Given the description of an element on the screen output the (x, y) to click on. 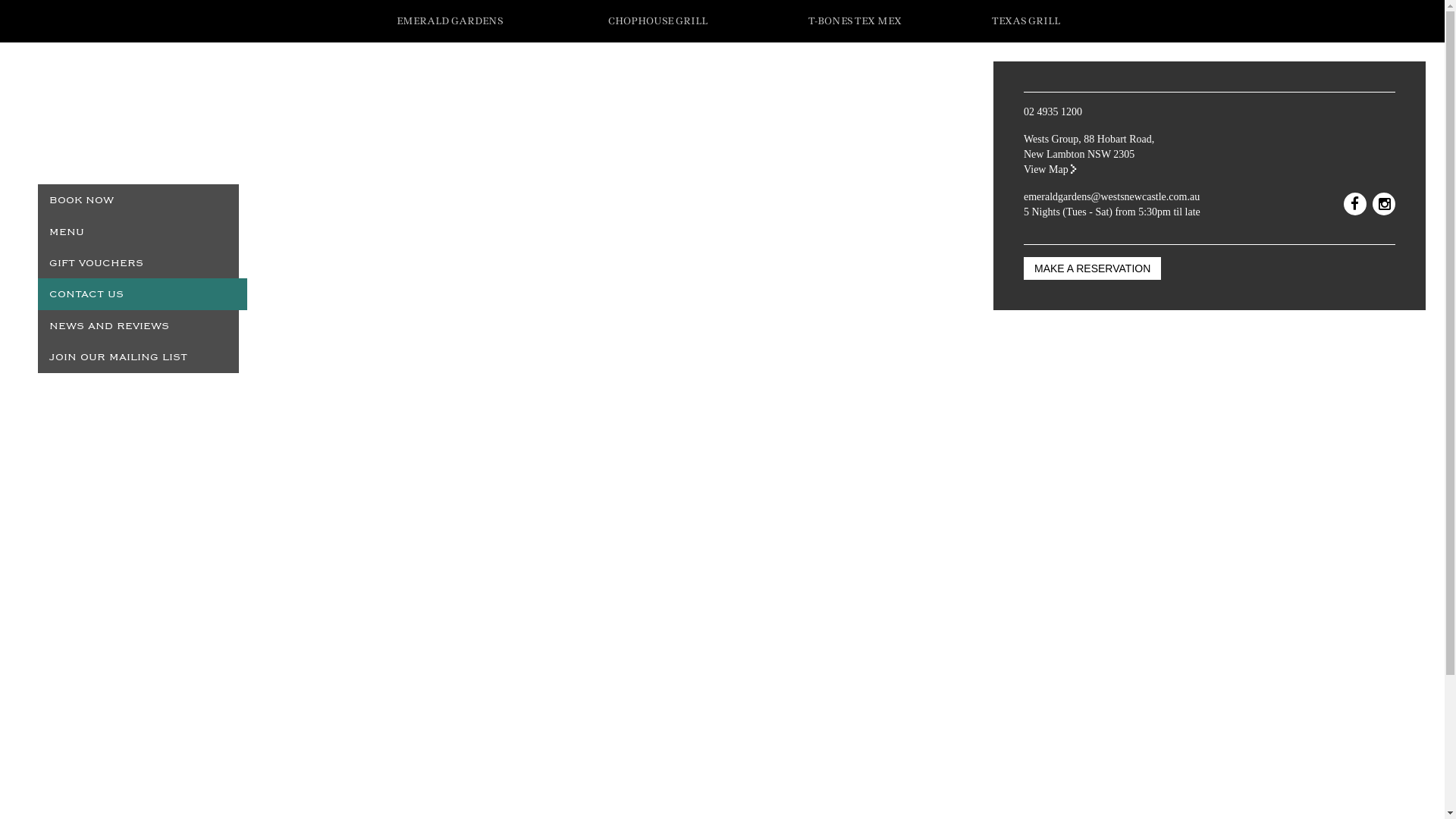
JOIN OUR MAILING LIST Element type: text (137, 356)
BOOK NOW Element type: text (137, 199)
CHOPHOUSE GRILL Element type: text (657, 21)
View Map Element type: text (1049, 169)
TEXAS GRILL Element type: text (1025, 21)
MAKE A RESERVATION Element type: text (1092, 268)
EMERALD GARDENS Element type: text (448, 21)
NEWS AND REVIEWS Element type: text (137, 325)
GIFT VOUCHERS Element type: text (137, 262)
MENU Element type: text (137, 231)
T-BONES TEX MEX Element type: text (854, 21)
CONTACT US Element type: text (142, 293)
